Given the description of an element on the screen output the (x, y) to click on. 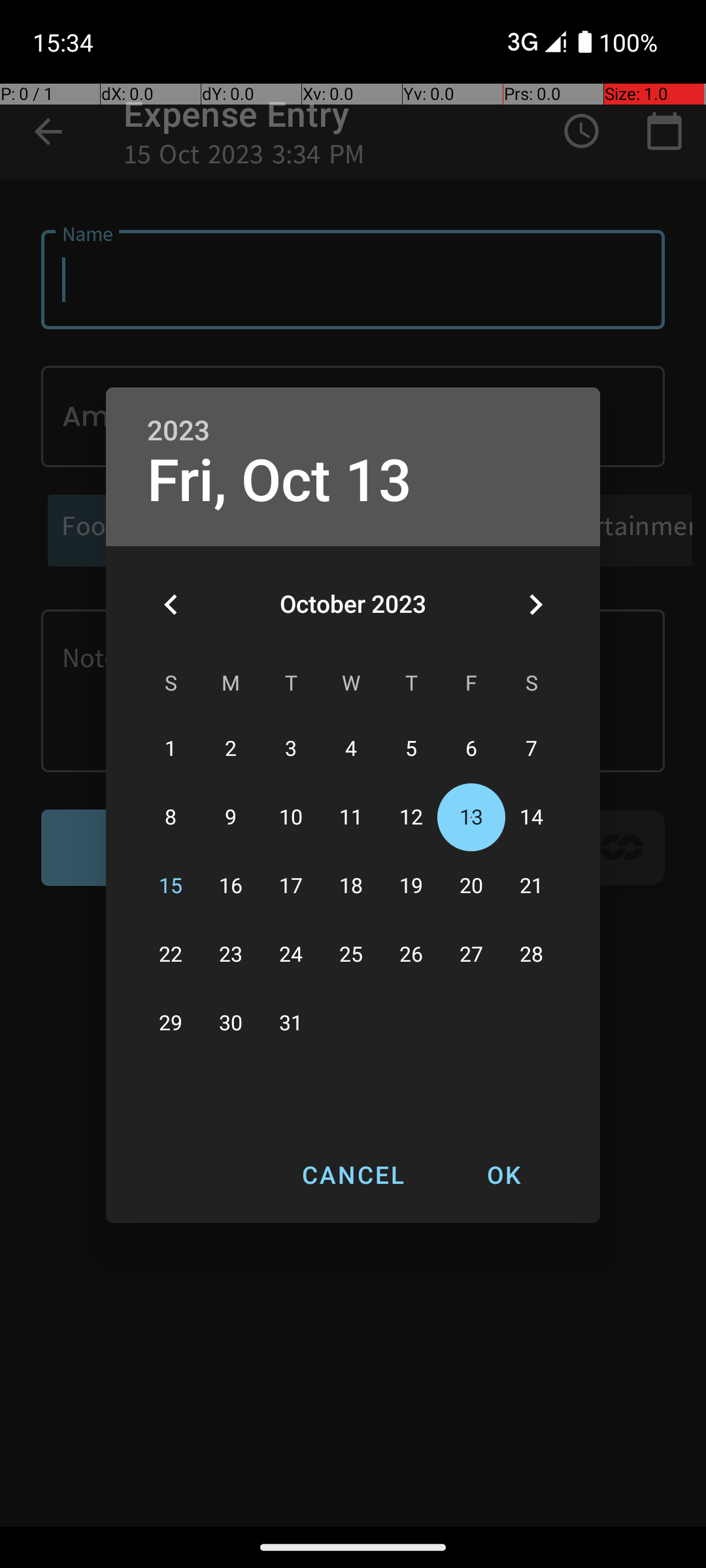
Fri, Oct 13 Element type: android.widget.TextView (279, 480)
